Given the description of an element on the screen output the (x, y) to click on. 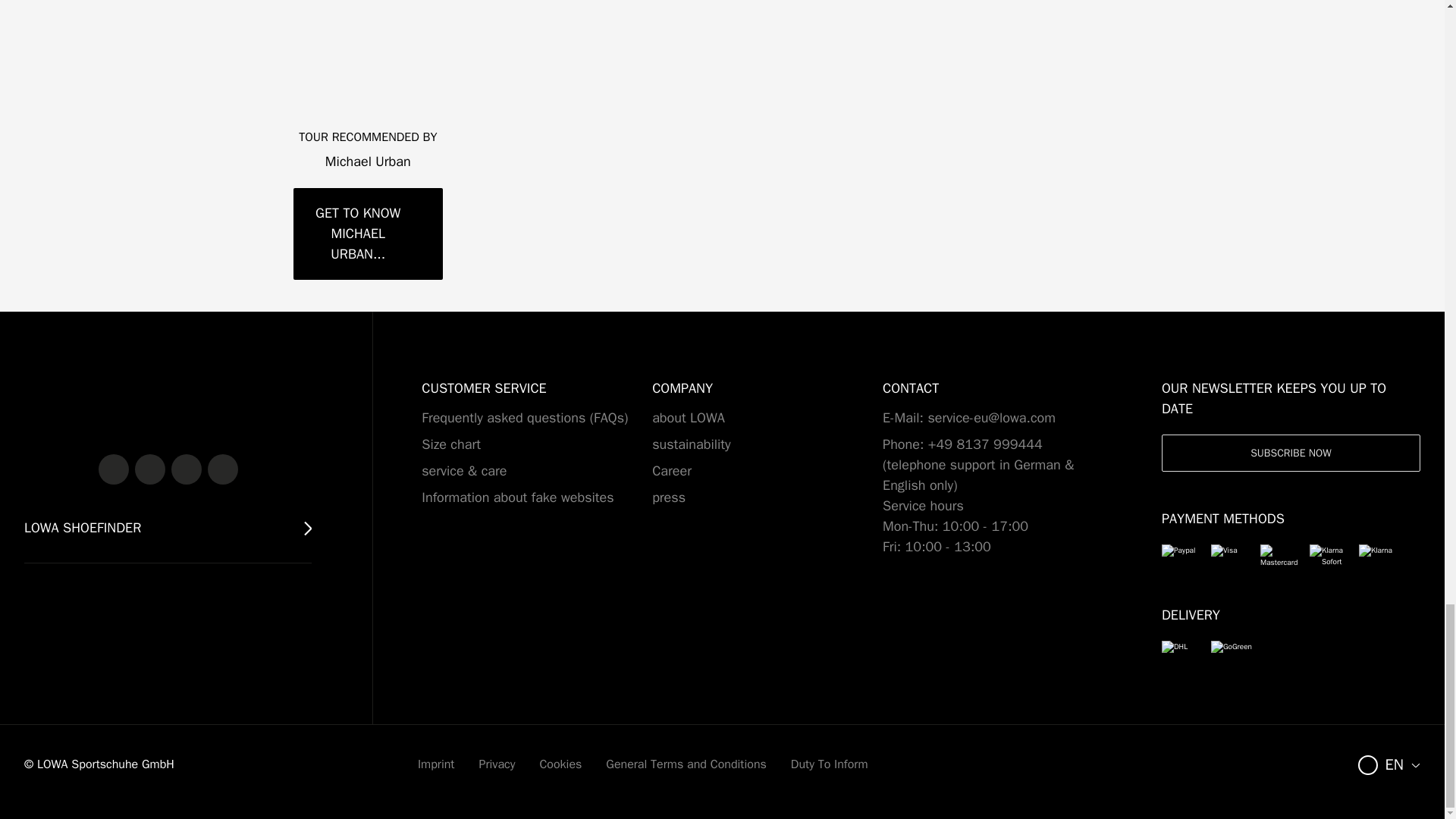
Privacy (497, 764)
General Terms and Conditions (686, 764)
Duty To Inform (828, 764)
Subscribe now (1291, 452)
Imprint (435, 764)
